Given the description of an element on the screen output the (x, y) to click on. 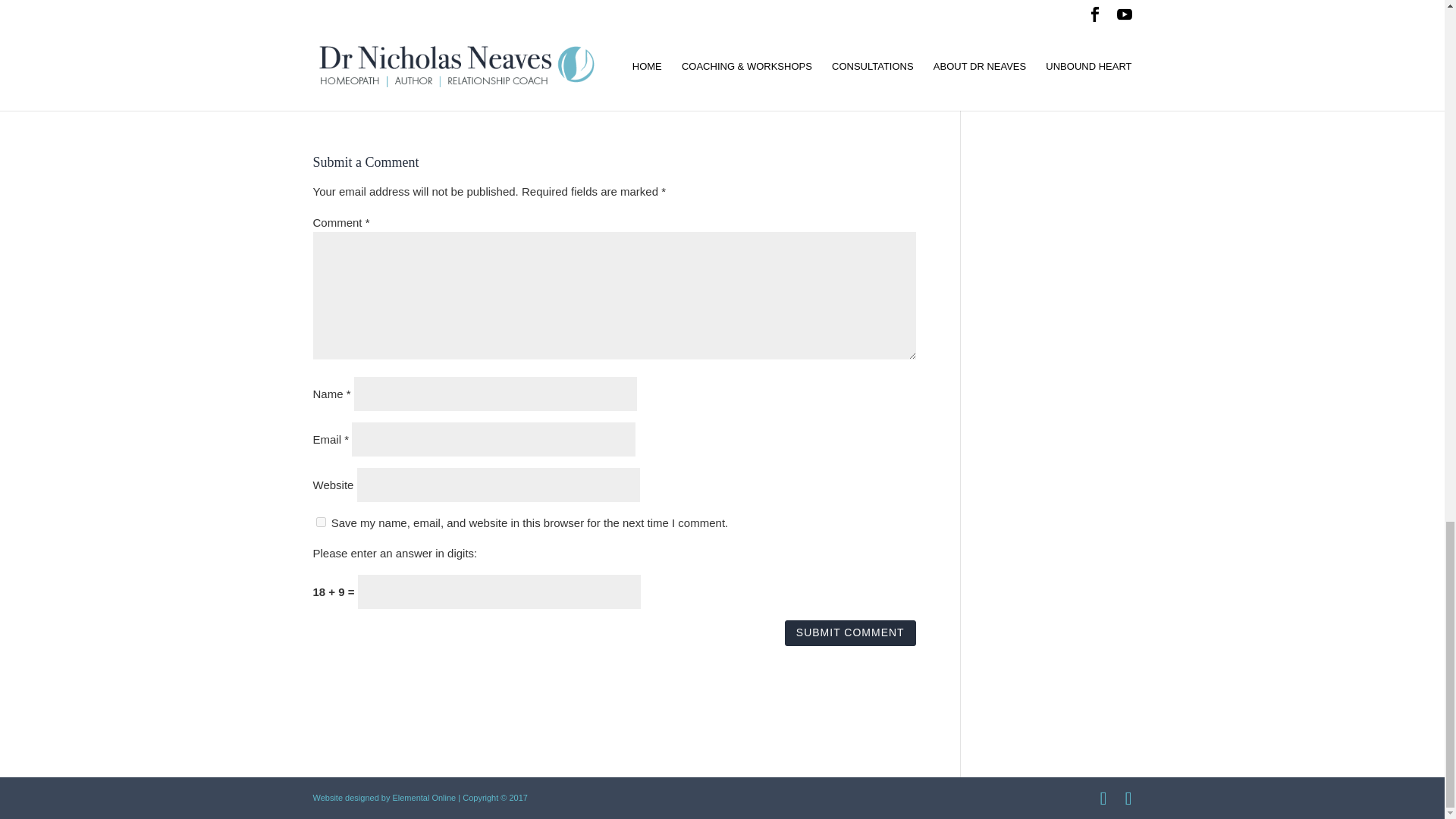
yes (319, 521)
Submit Comment (849, 632)
Submit Comment (849, 632)
